Given the description of an element on the screen output the (x, y) to click on. 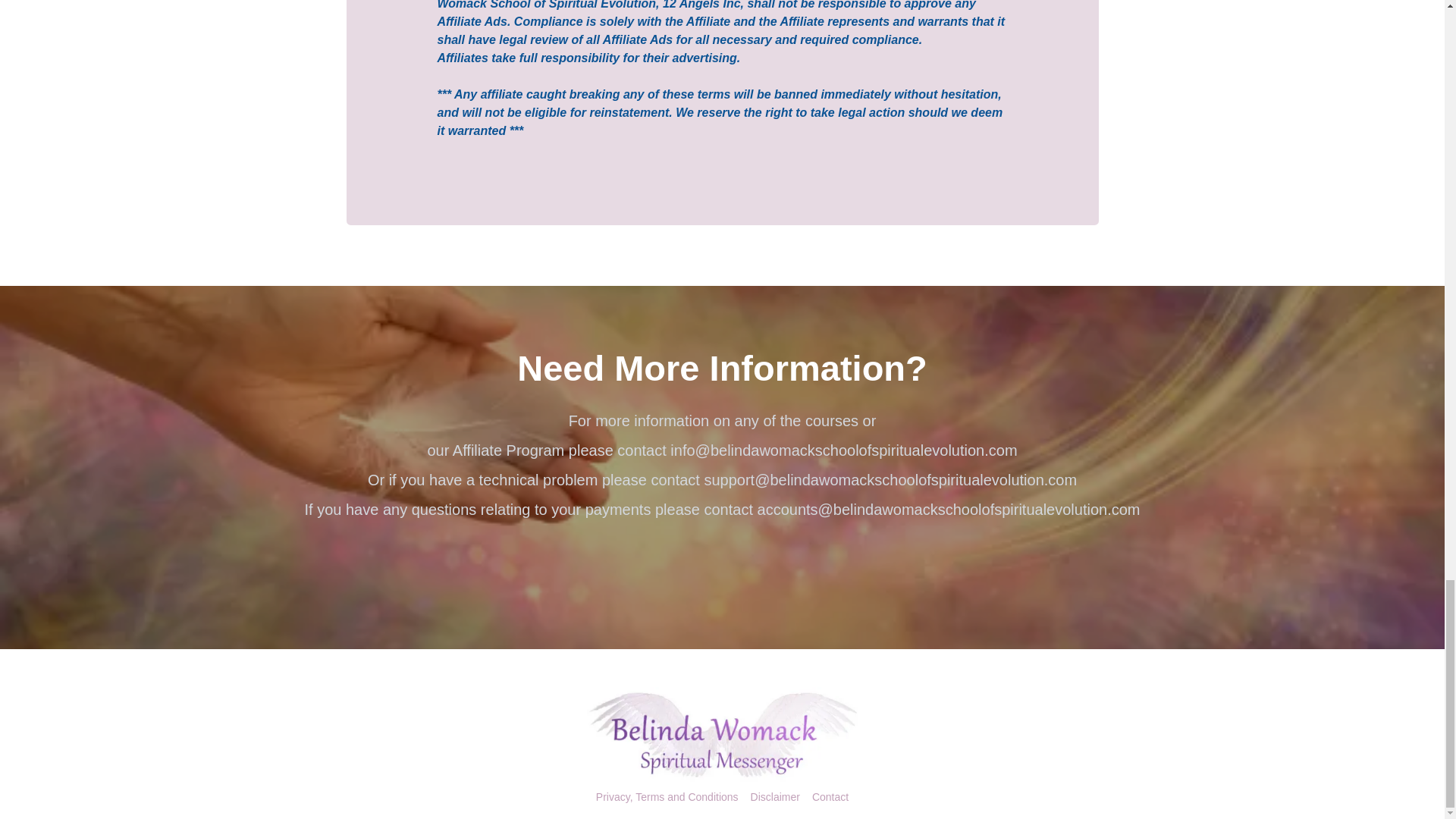
Privacy, Terms and Conditions (666, 797)
Contact (830, 797)
Disclaimer (775, 797)
